Given the description of an element on the screen output the (x, y) to click on. 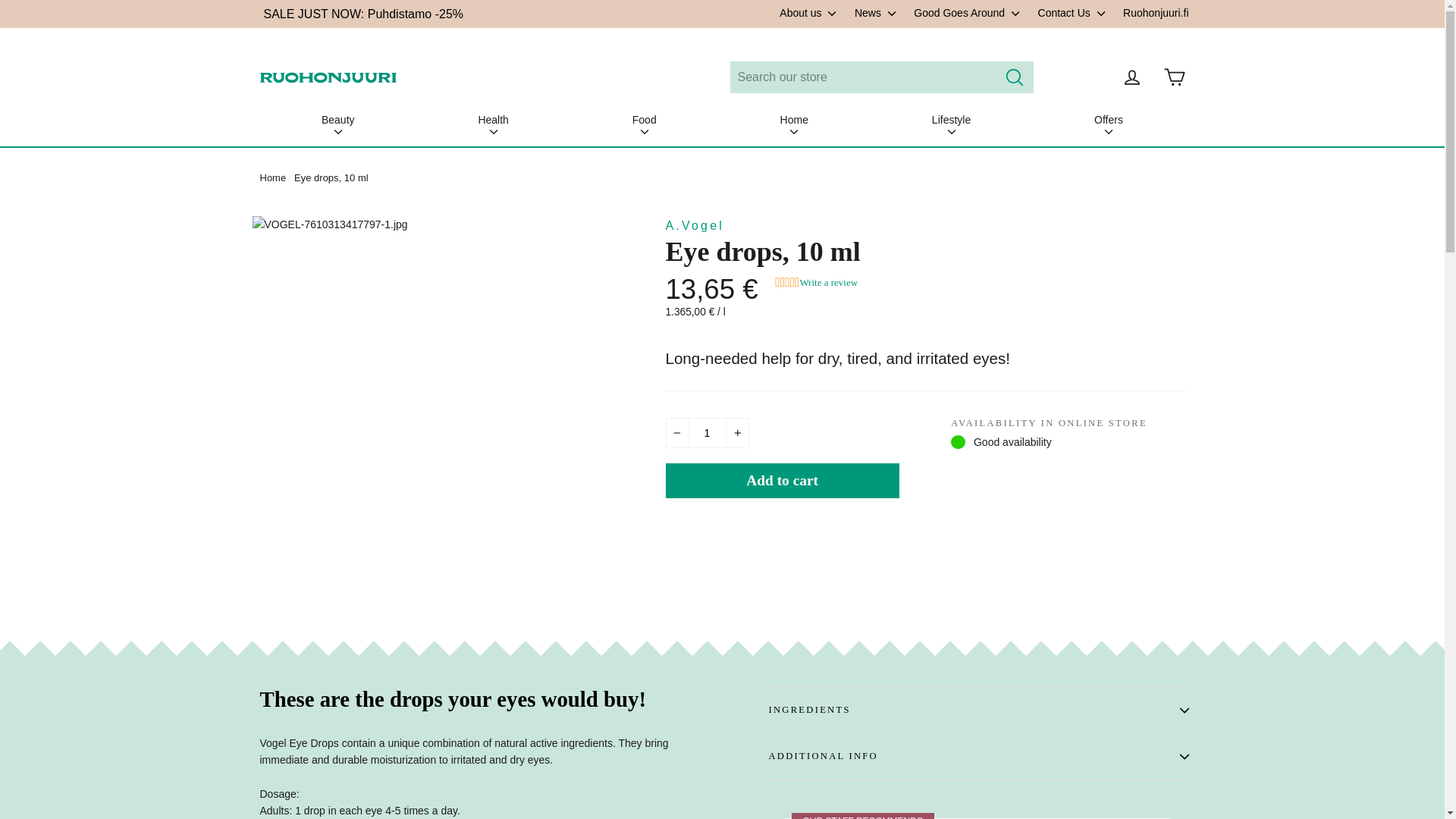
1 (707, 432)
Back to the frontpage (272, 177)
